Given the description of an element on the screen output the (x, y) to click on. 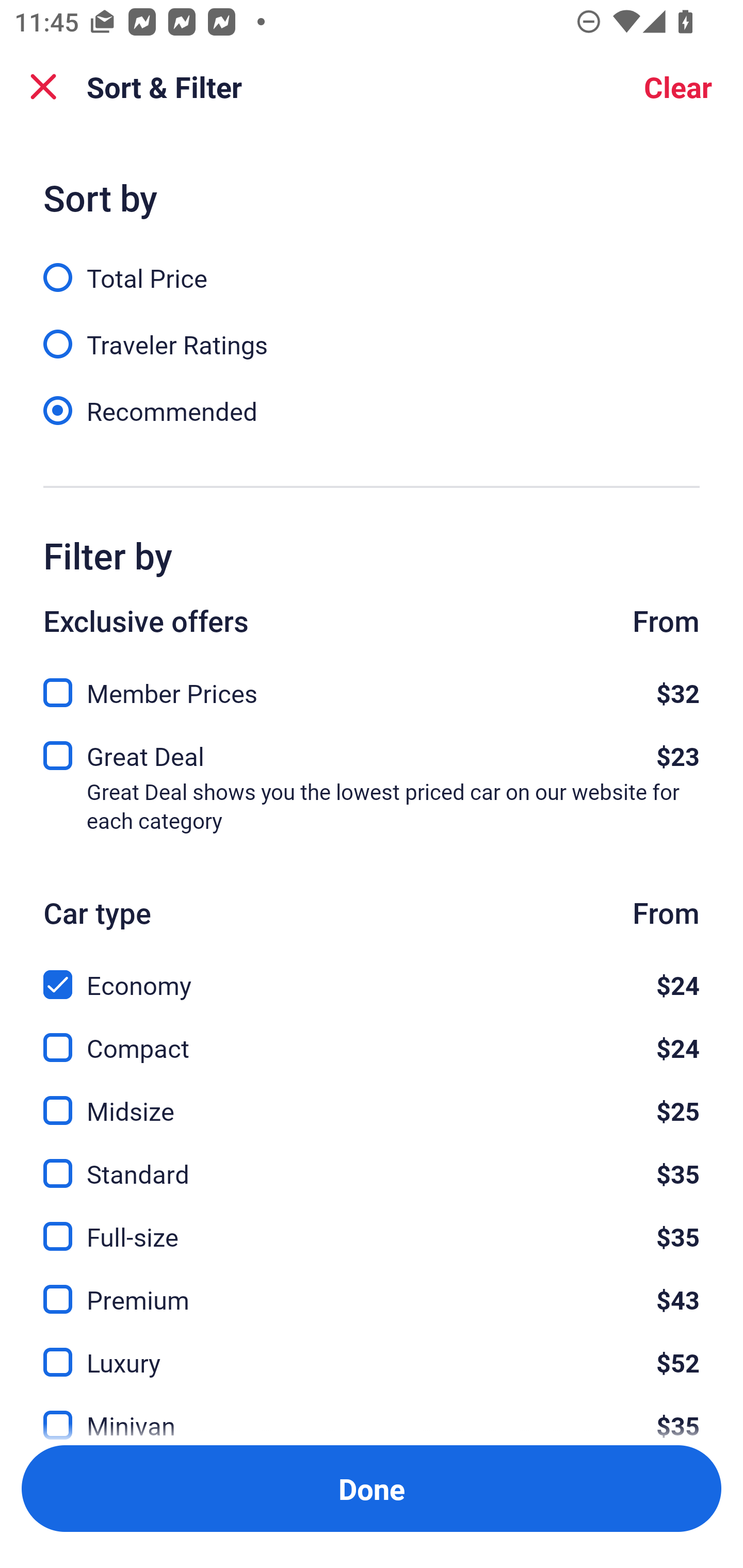
Close Sort and Filter (43, 86)
Clear (677, 86)
Total Price (371, 266)
Traveler Ratings (371, 332)
Member Prices, $32 Member Prices $32 (371, 686)
Economy, $24 Economy $24 (371, 973)
Compact, $24 Compact $24 (371, 1036)
Midsize, $25 Midsize $25 (371, 1098)
Standard, $35 Standard $35 (371, 1161)
Full-size, $35 Full-size $35 (371, 1224)
Premium, $43 Premium $43 (371, 1286)
Luxury, $52 Luxury $52 (371, 1350)
Minivan, $35 Minivan $35 (371, 1413)
Apply and close Sort and Filter Done (371, 1488)
